Given the description of an element on the screen output the (x, y) to click on. 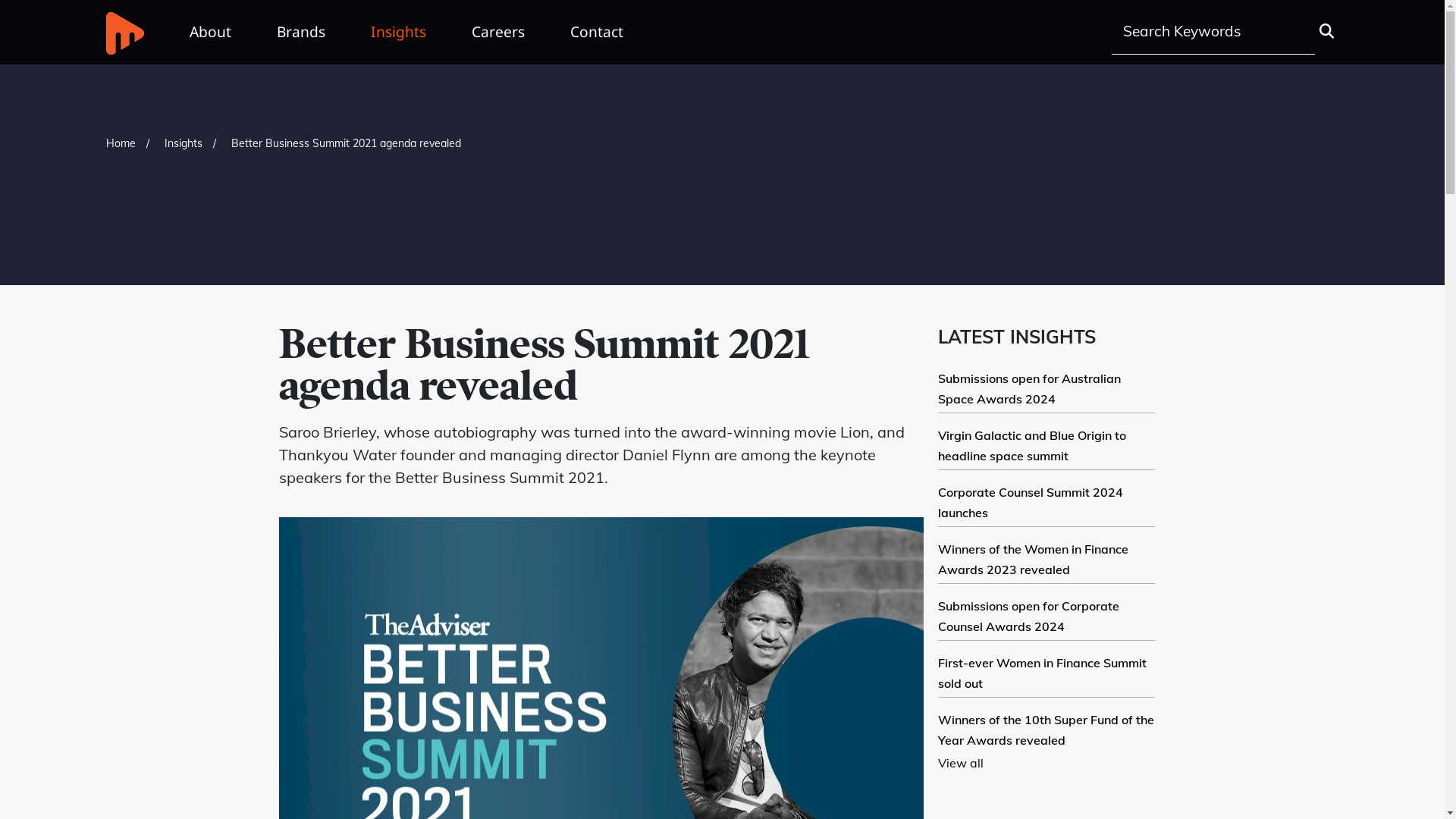
Corporate Counsel Summit 2024 launches Element type: text (1030, 501)
Winners of the 10th Super Fund of the Year Awards revealed Element type: text (1046, 729)
Virgin Galactic and Blue Origin to headline space summit Element type: text (1032, 445)
Careers Element type: text (497, 32)
Winners of the Women in Finance Awards 2023 revealed Element type: text (1033, 558)
Brands Element type: text (300, 32)
View all Element type: text (960, 762)
Submissions open for Corporate Counsel Awards 2024 Element type: text (1028, 615)
About Element type: text (210, 32)
Insights Element type: text (183, 143)
Contact Element type: text (596, 32)
Submissions open for Australian Space Awards 2024 Element type: text (1029, 388)
First-ever Women in Finance Summit sold out Element type: text (1042, 672)
Insights Element type: text (398, 32)
Home Element type: text (120, 143)
